Given the description of an element on the screen output the (x, y) to click on. 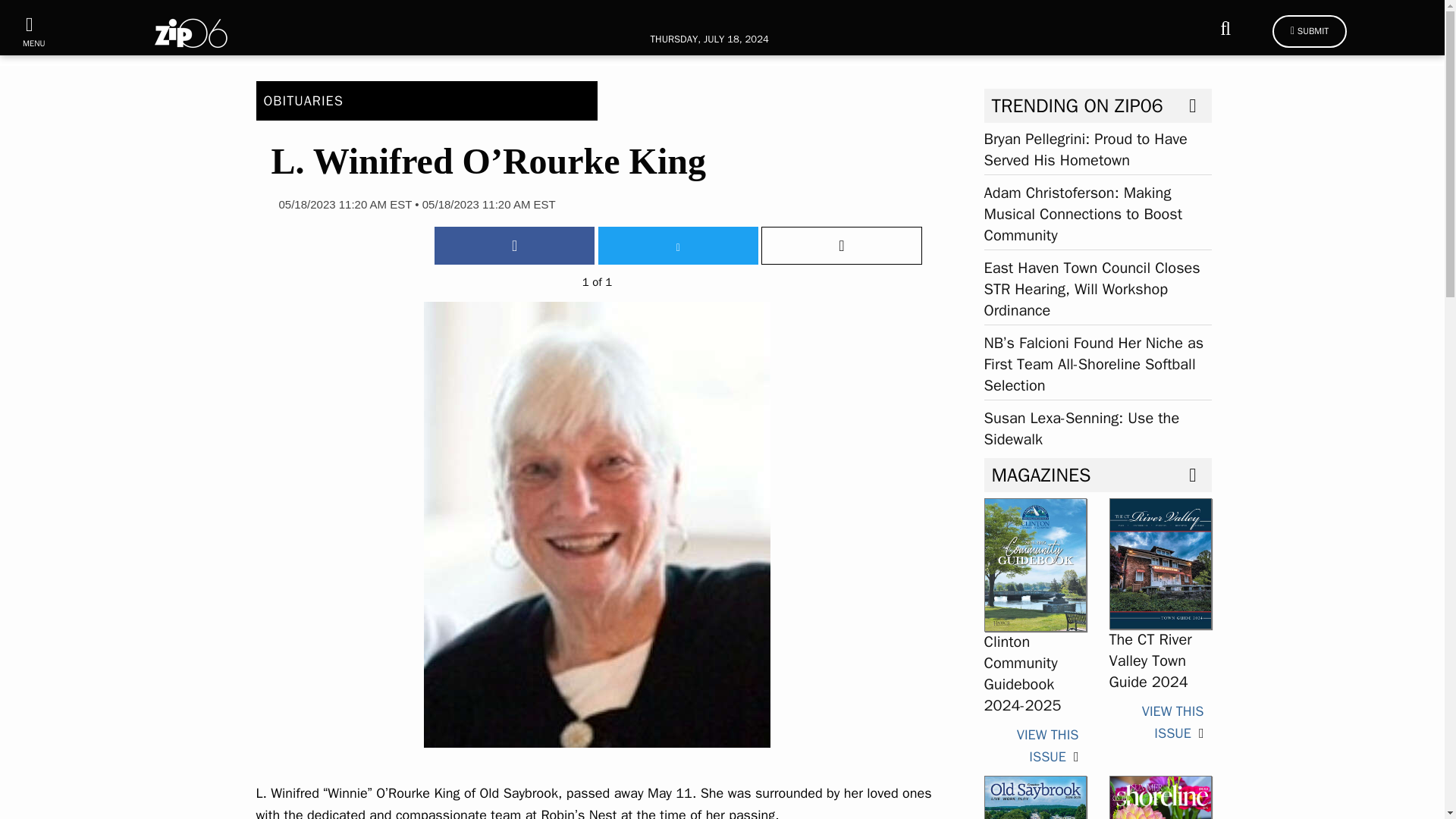
Clinton Community Guidebook 2024-2025 (1022, 673)
Clinton Community Guidebook 2024-2025 (1035, 563)
The CT River Valley Town Guide 2024 (1159, 562)
The CT River Valley Town Guide 2024 (1172, 722)
Clinton Community Guidebook 2024-2025 (1047, 745)
The CT River Valley Town Guide 2024 (1149, 660)
